Given the description of an element on the screen output the (x, y) to click on. 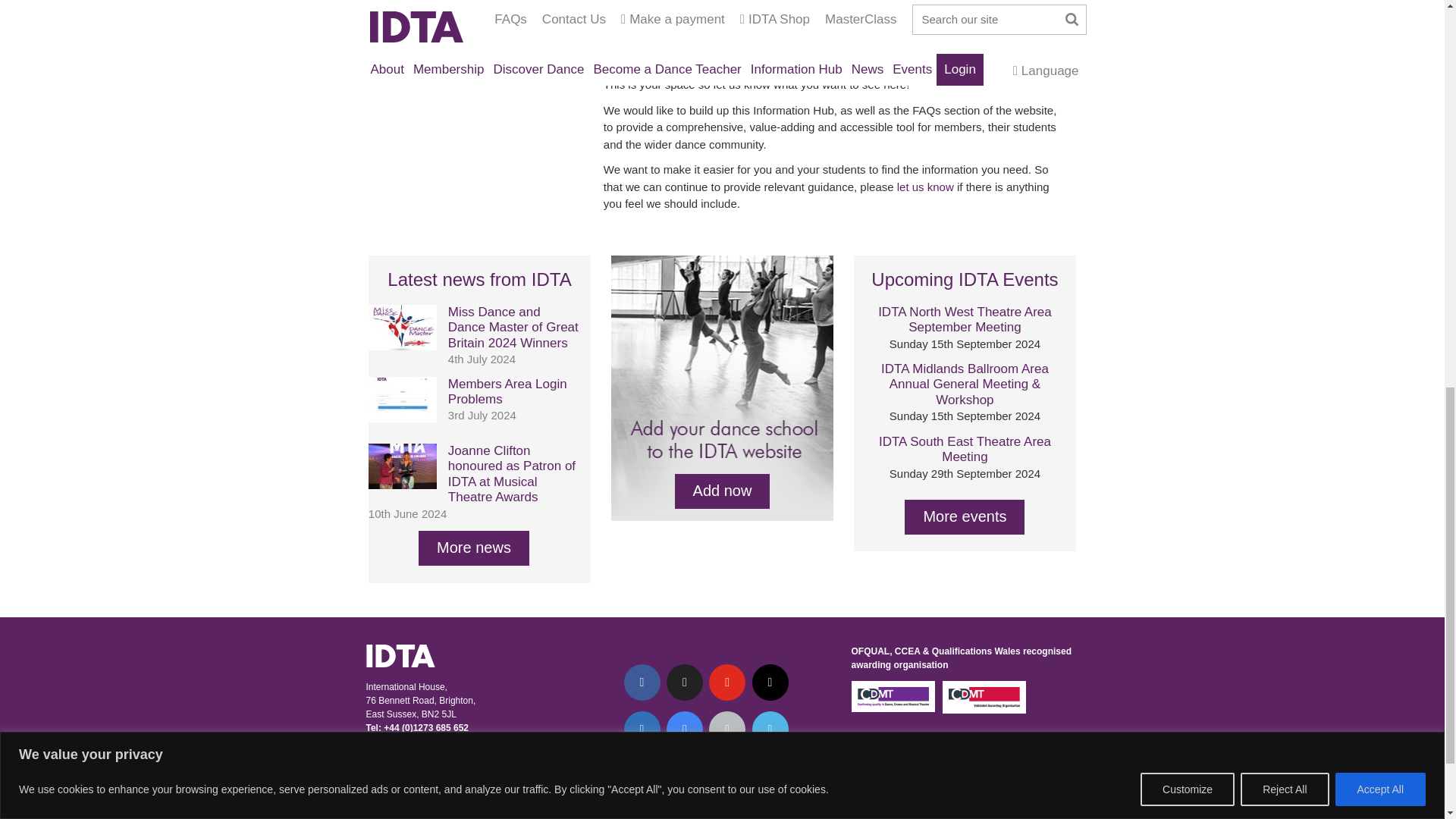
YouTube (727, 682)
Instagram (770, 682)
Miss Dance and Dance Master of Great Britain 2024 Winners (402, 345)
Members Area Login Problems (402, 418)
Facebook (641, 682)
Linkedin (641, 729)
